Given the description of an element on the screen output the (x, y) to click on. 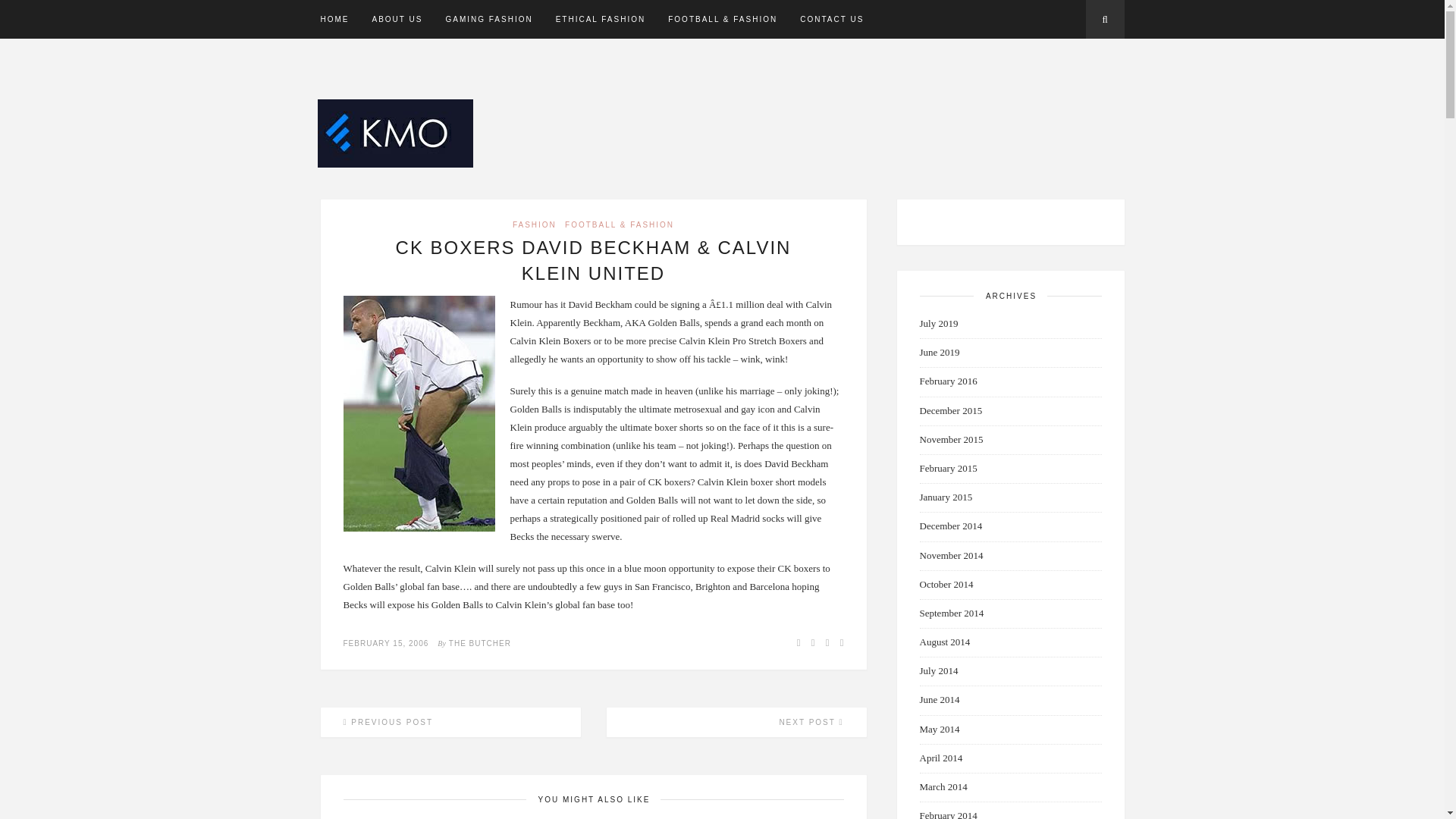
August 2014 (943, 641)
January 2015 (945, 496)
December 2014 (949, 525)
FASHION (534, 225)
September 2014 (951, 613)
June 2019 (938, 351)
July 2019 (938, 323)
GAMING FASHION (488, 19)
ABOUT US (396, 19)
February 2016 (947, 380)
